Given the description of an element on the screen output the (x, y) to click on. 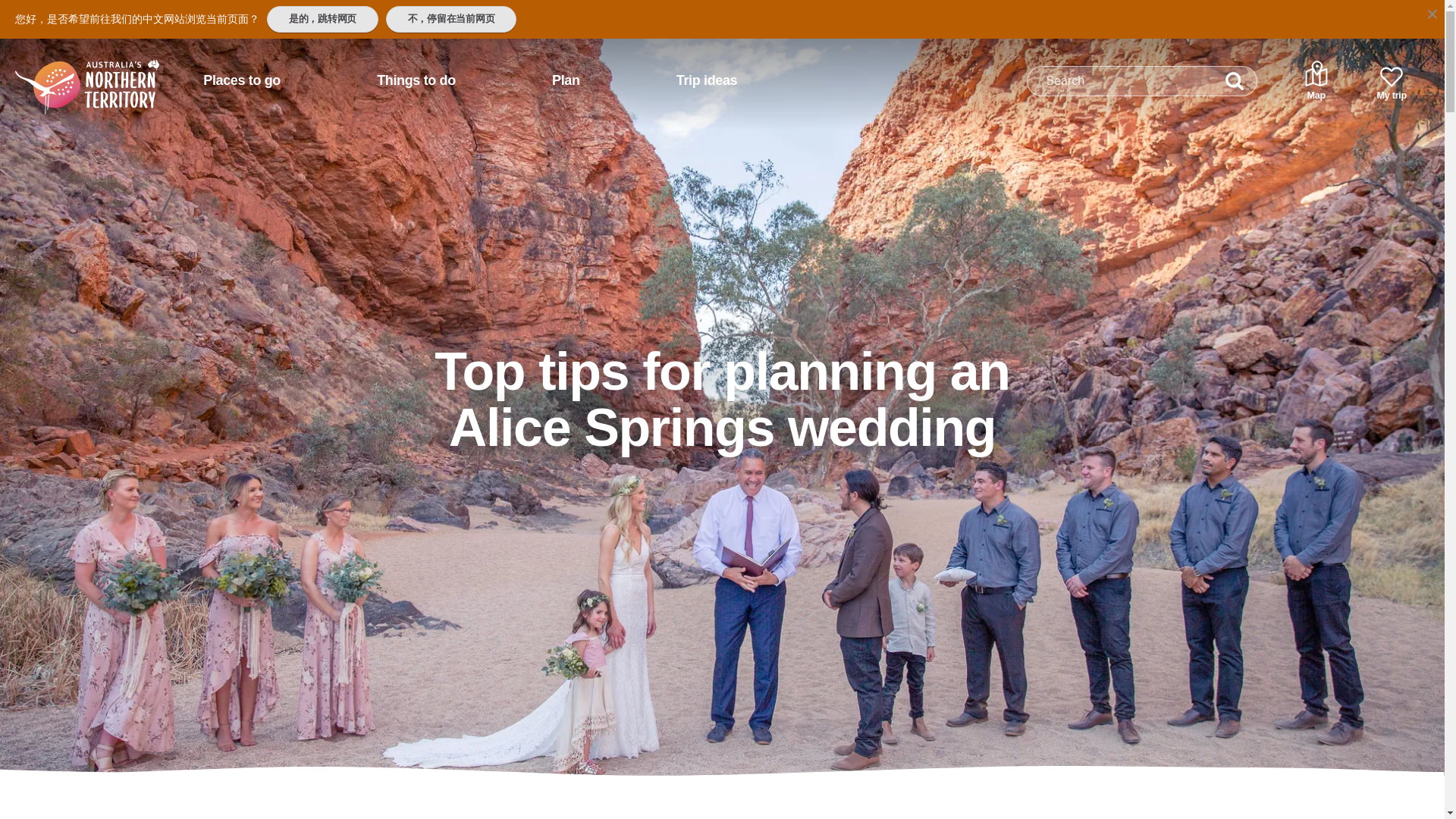
Search (1234, 81)
Things to do (416, 80)
Home (67, 73)
Places to go (241, 80)
